Given the description of an element on the screen output the (x, y) to click on. 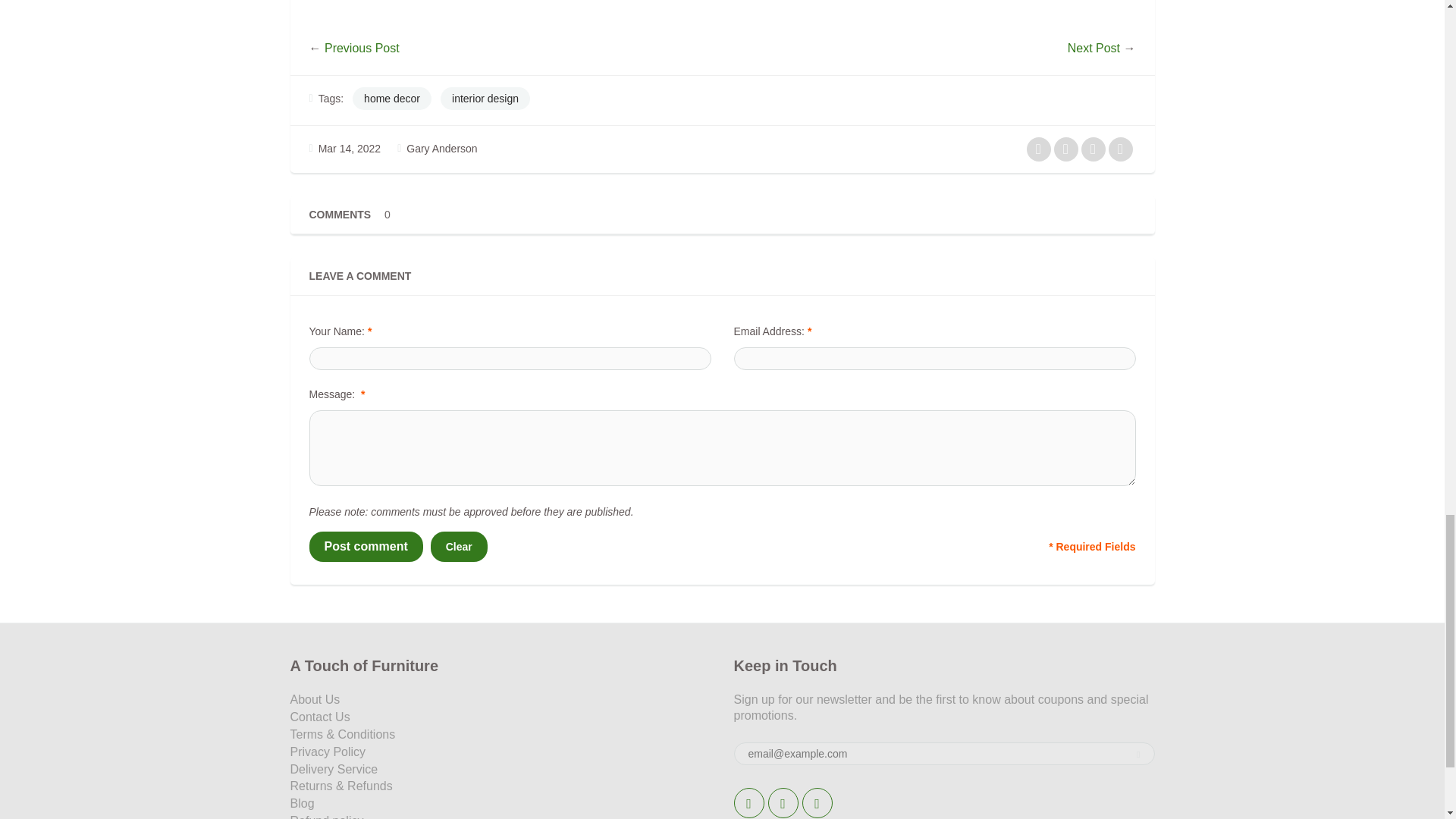
Clear (458, 546)
interior design (485, 97)
Twitter (748, 802)
Instagram (817, 802)
Post comment (365, 546)
Next Post (1093, 47)
Previous Post (361, 47)
home decor (391, 97)
Facebook (782, 802)
